Given the description of an element on the screen output the (x, y) to click on. 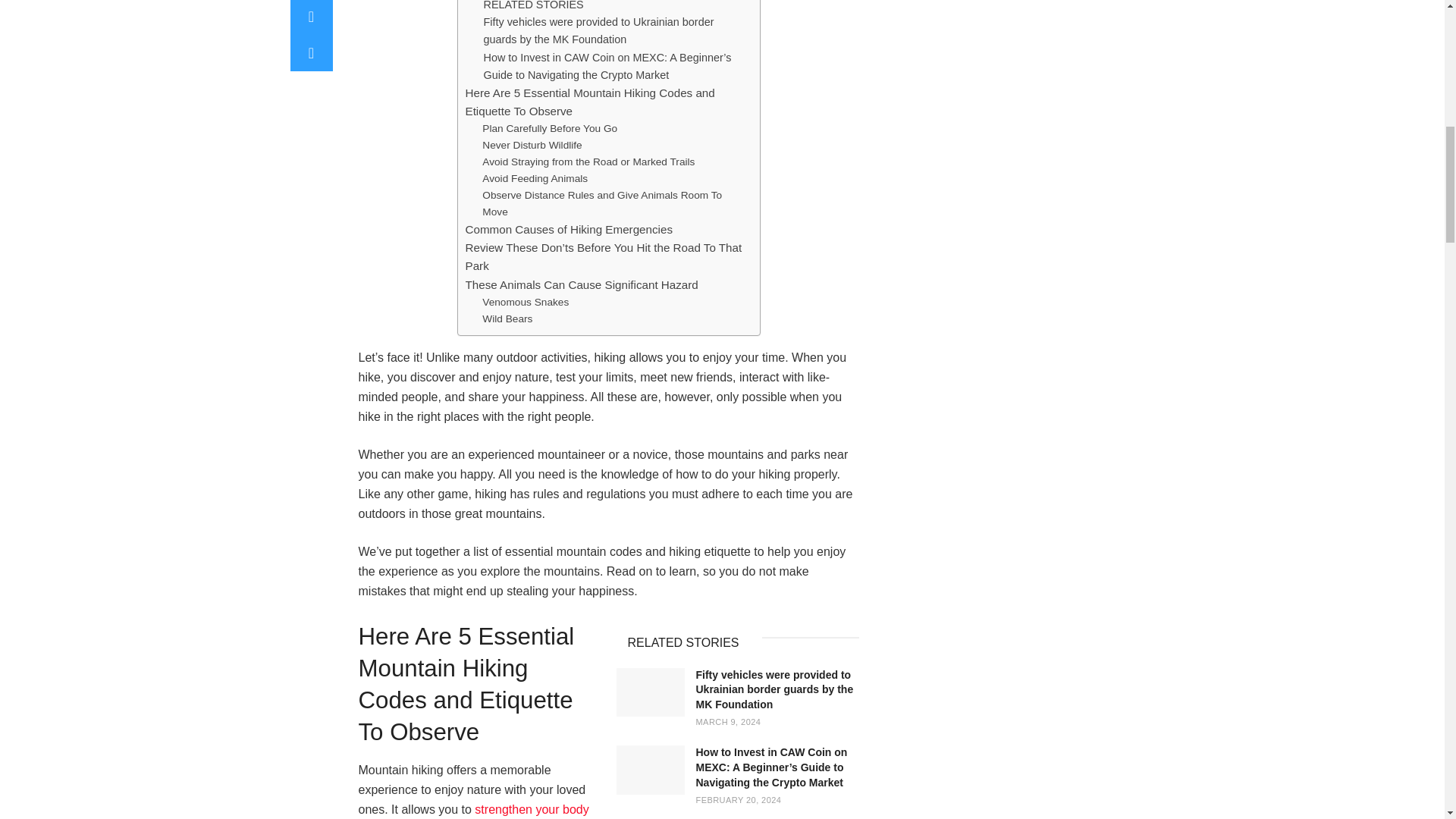
Plan Carefully Before You Go (549, 128)
Venomous Snakes (525, 302)
Never Disturb Wildlife (530, 145)
Wild Bears (506, 319)
Common Causes of Hiking Emergencies (568, 229)
RELATED STORIES (533, 6)
Observe Distance Rules and Give Animals Room To Move (612, 203)
